Given the description of an element on the screen output the (x, y) to click on. 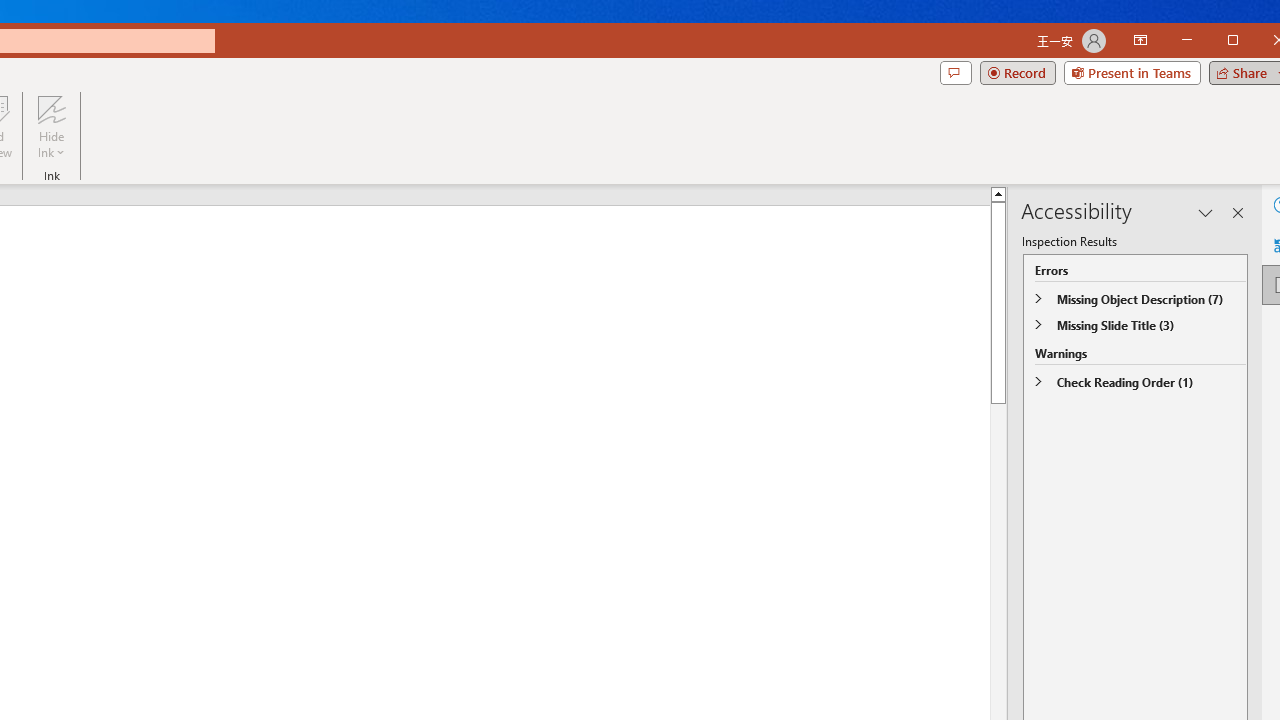
Hide Ink (51, 109)
Line up (1252, 193)
Hide Ink (51, 127)
Maximize (1261, 42)
